Given the description of an element on the screen output the (x, y) to click on. 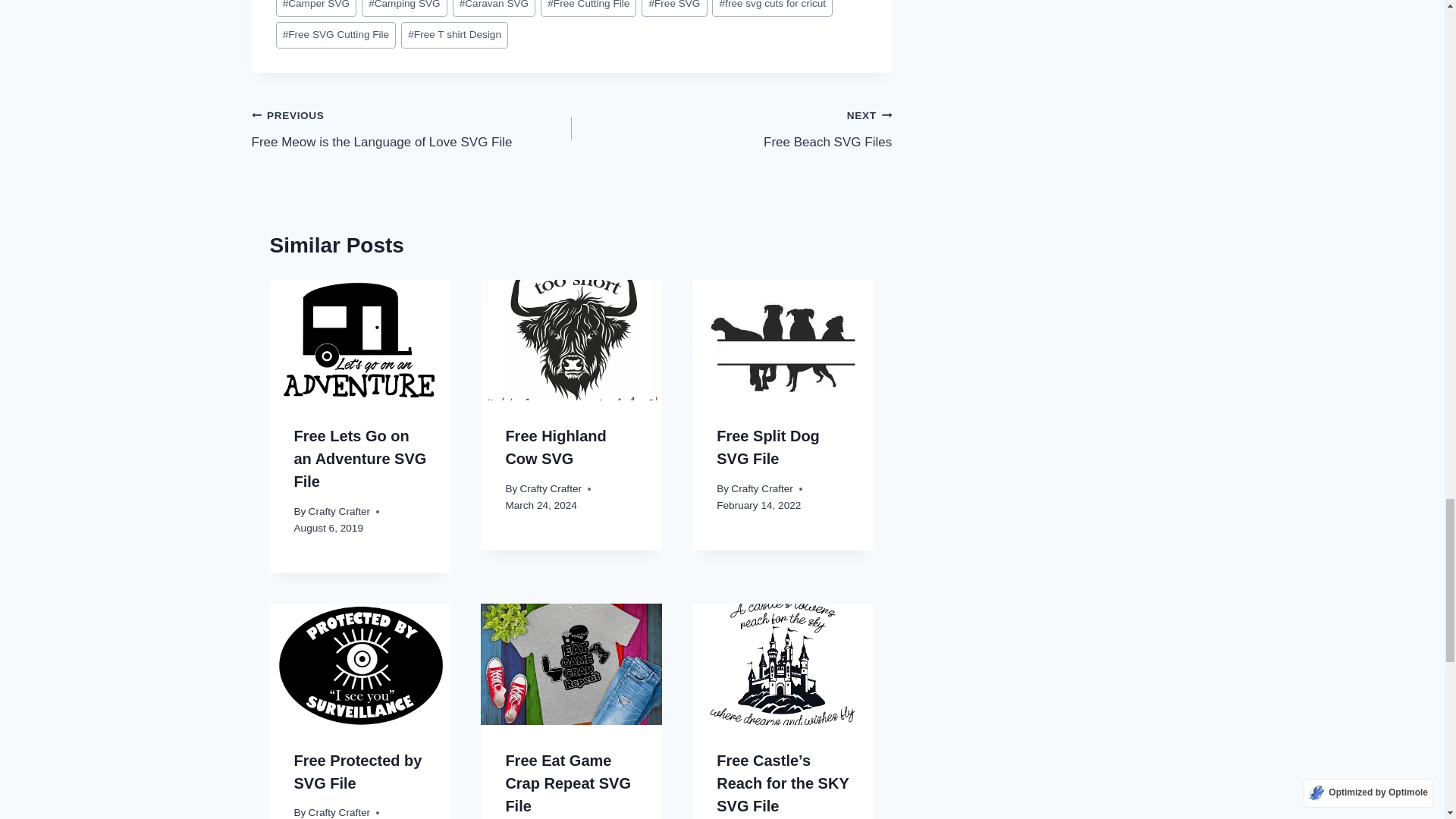
free svg cuts for cricut (771, 8)
Free SVG Cutting File (336, 35)
Free SVG (674, 8)
Camping SVG (403, 8)
Free Cutting File (588, 8)
Free T shirt Design (454, 35)
Camper SVG (316, 8)
Caravan SVG (493, 8)
